Given the description of an element on the screen output the (x, y) to click on. 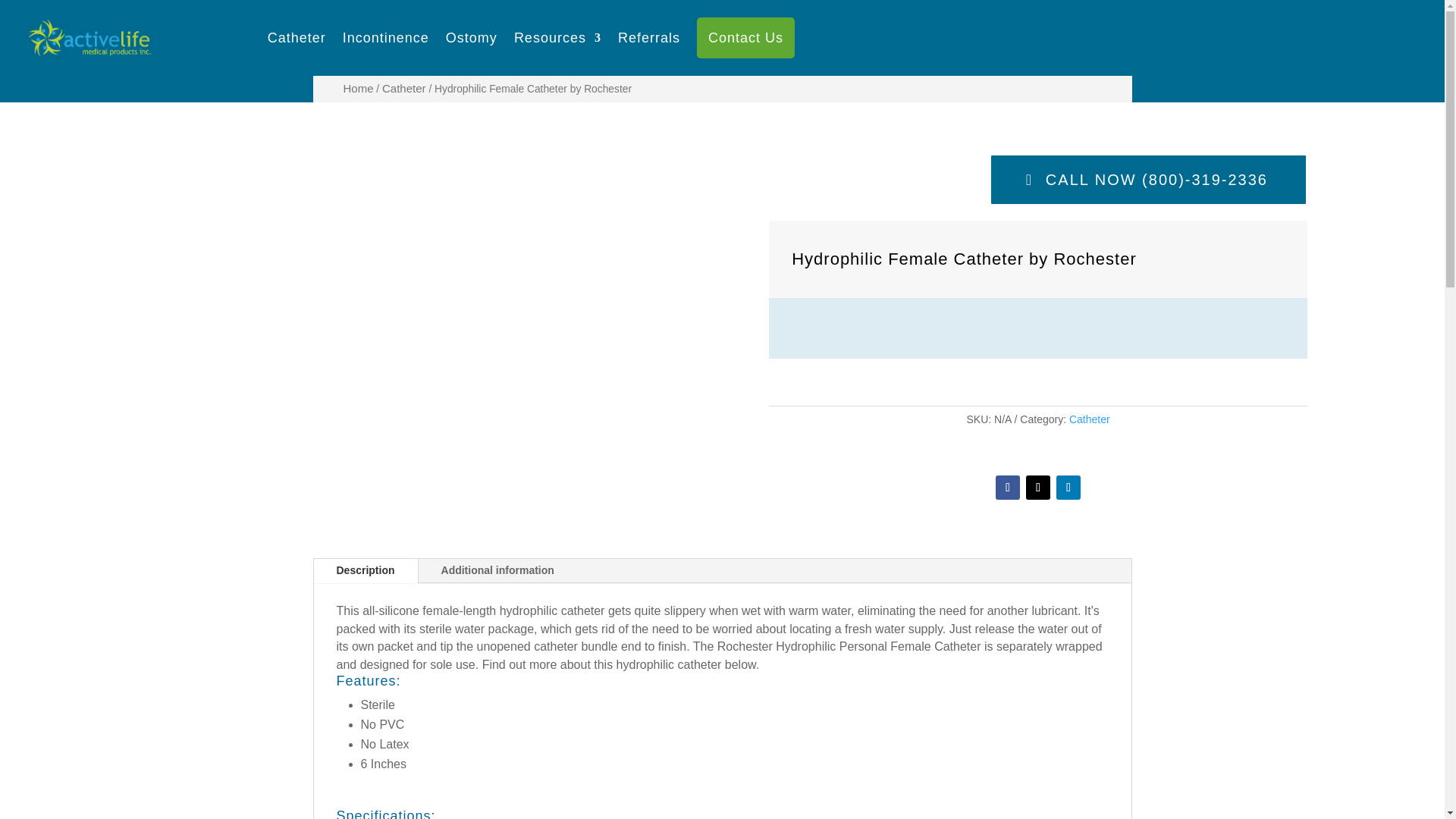
Follow on X (1037, 487)
Home (357, 88)
Follow on LinkedIn (1068, 487)
Additional information (497, 570)
Catheter (403, 88)
Contact Us (745, 37)
Catheter (1088, 419)
Home (338, 38)
Referrals (648, 37)
Description (365, 570)
Ostomy (471, 37)
Catheter (397, 38)
Follow on Facebook (1007, 487)
Resources (557, 37)
Incontinence (385, 37)
